Given the description of an element on the screen output the (x, y) to click on. 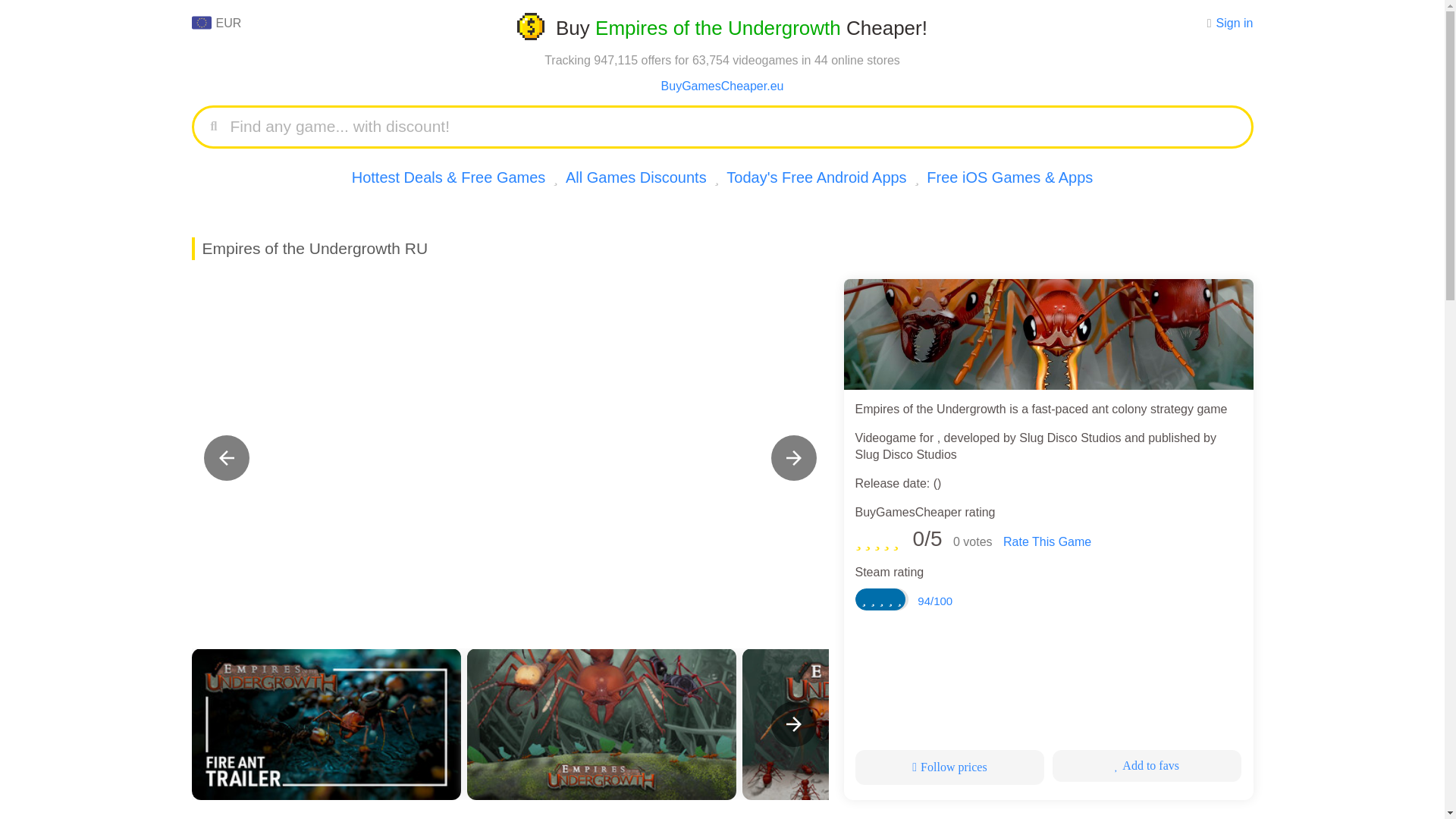
Rate This Game (1046, 541)
Cheap Empires of the Undergrowth CD keys (1047, 334)
Add to favs (1146, 766)
All Games Discounts (636, 176)
Follow prices (950, 767)
Sign in (1234, 22)
Today's Free Android Apps (815, 176)
BuyGamesCheaper.eu (722, 85)
